Given the description of an element on the screen output the (x, y) to click on. 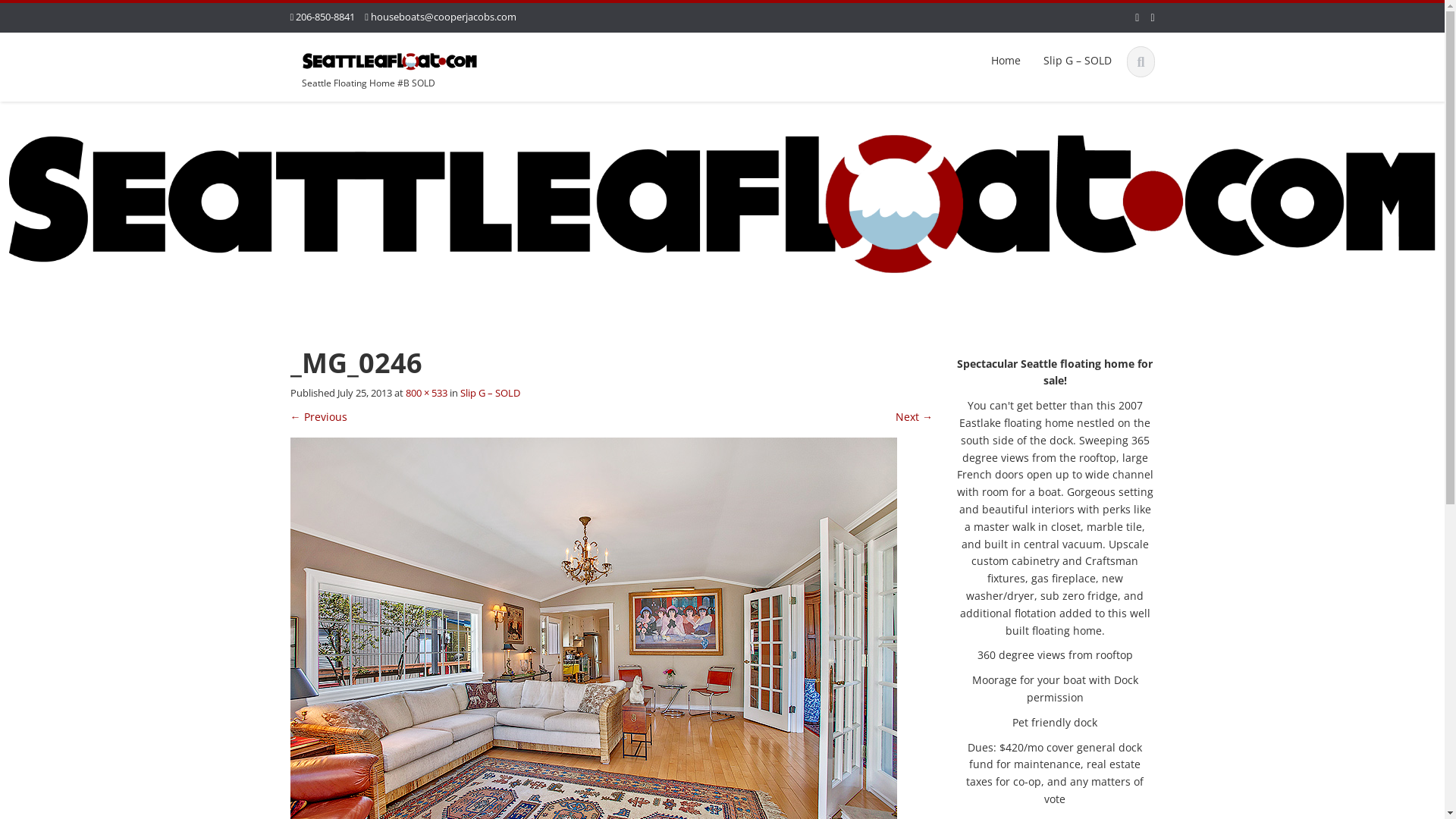
206-850-8841 Element type: text (324, 16)
houseboats@cooperjacobs.com Element type: text (443, 16)
_MG_0246 Element type: hover (592, 637)
Home Element type: text (1005, 60)
2031 Fairview Ave E, Seattle WA 98102 Element type: hover (389, 58)
